Given the description of an element on the screen output the (x, y) to click on. 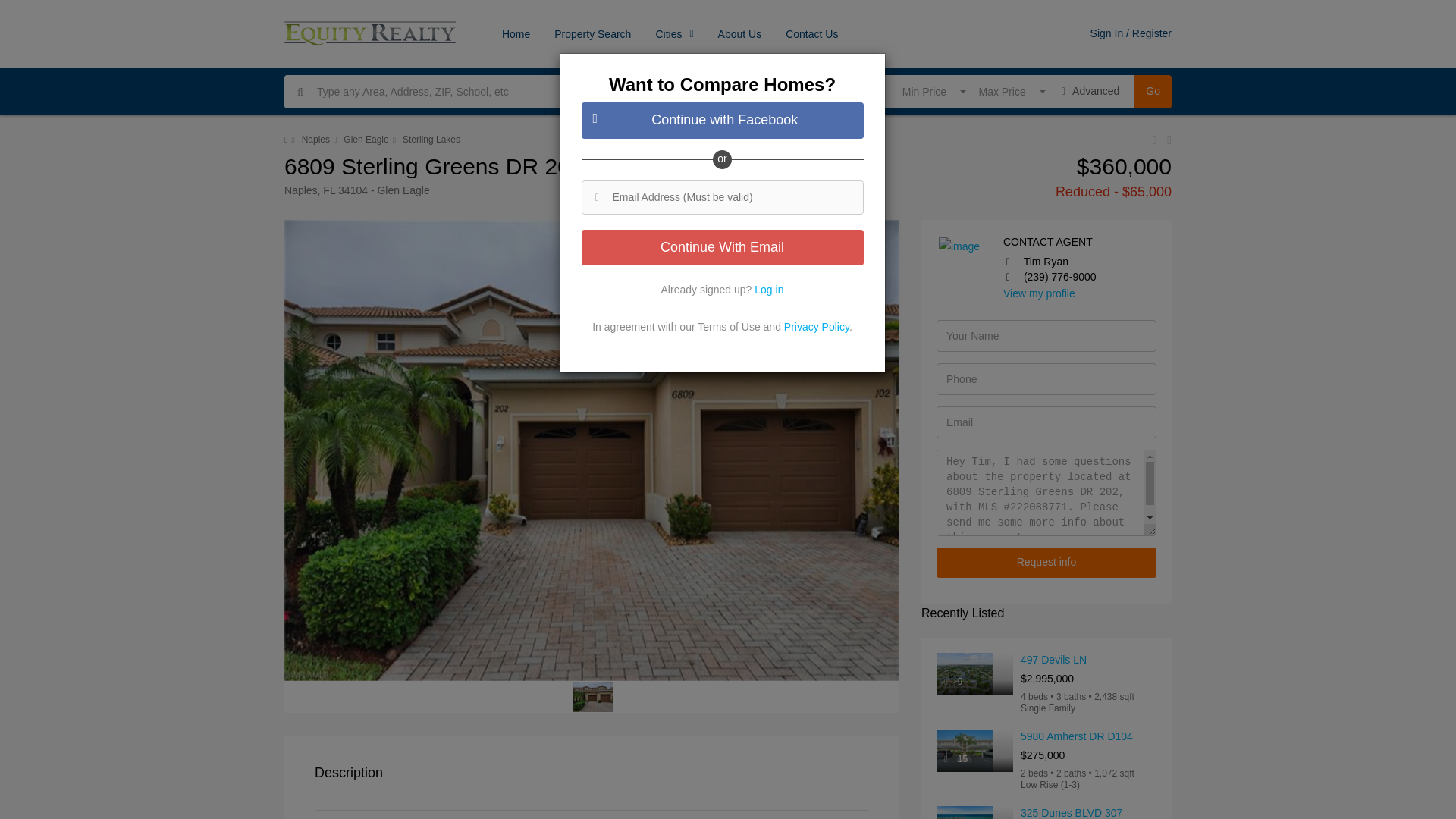
Cities (673, 33)
Continue With Email (721, 248)
Continue with Facebook (721, 120)
Max Price (1005, 91)
About Us (740, 33)
Privacy Policy (816, 326)
Go (1005, 91)
Min Price (1153, 91)
Contact Us (929, 91)
Log in (811, 33)
Property Search (768, 289)
